Given the description of an element on the screen output the (x, y) to click on. 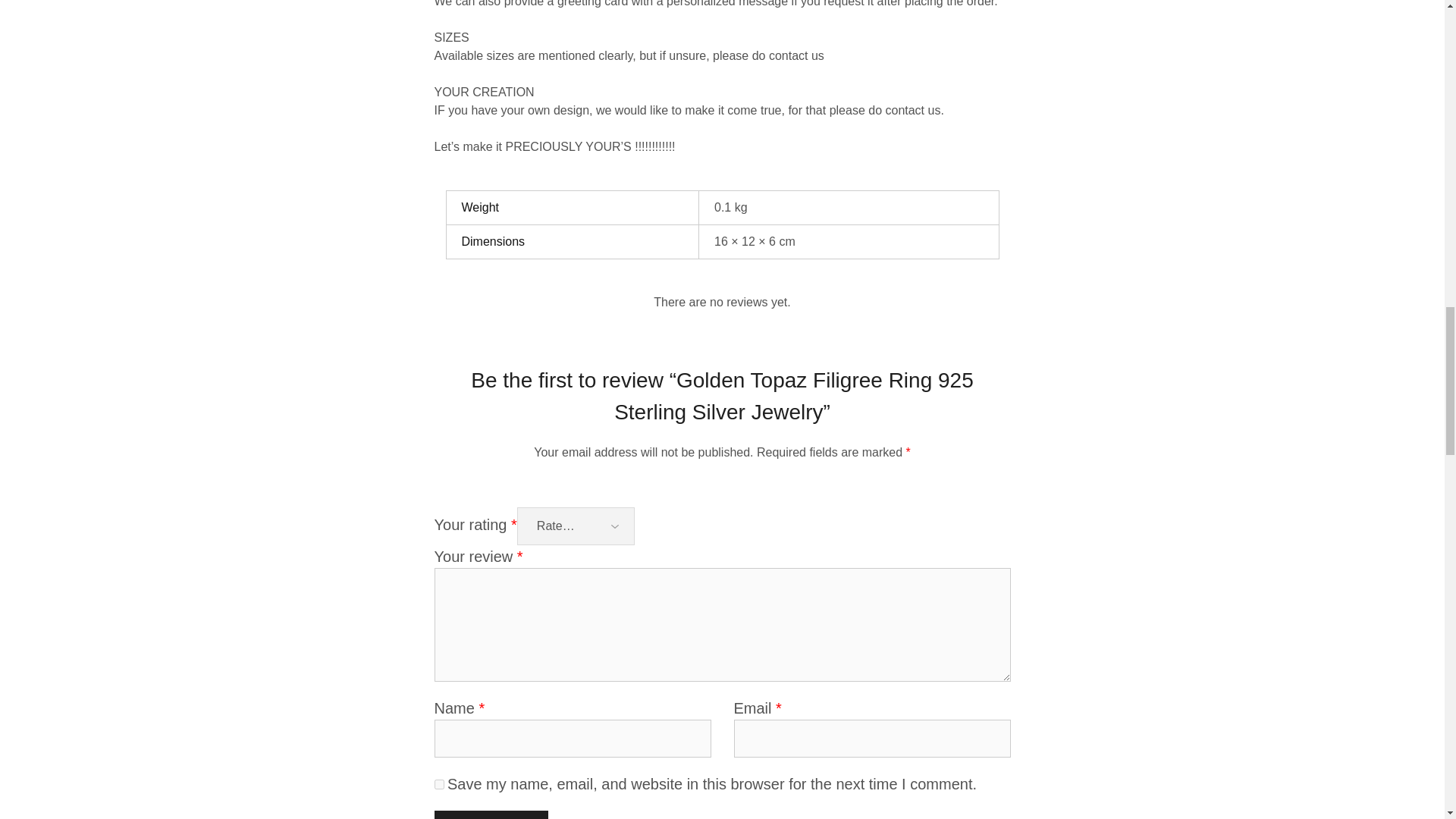
yes (438, 784)
Submit (490, 814)
